Given the description of an element on the screen output the (x, y) to click on. 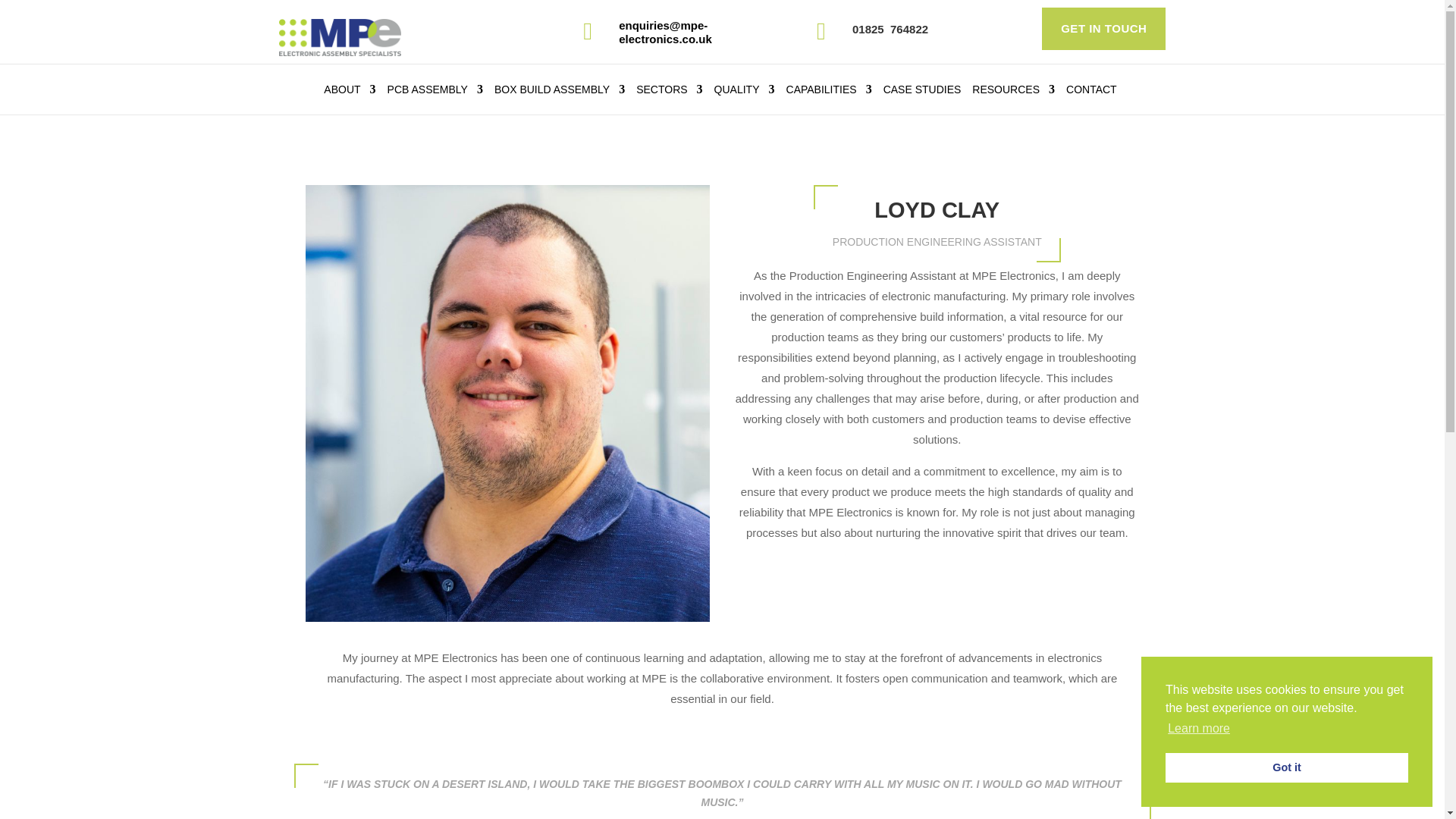
QUALITY (744, 92)
ABOUT (349, 92)
mpe-electronics-manufacturing (340, 37)
01825  764822 (889, 29)
PCB ASSEMBLY (435, 92)
BOX BUILD ASSEMBLY (559, 92)
CASE STUDIES (921, 92)
CAPABILITIES (829, 92)
SECTORS (668, 92)
GET IN TOUCH (1104, 28)
RESOURCES (1013, 92)
